Given the description of an element on the screen output the (x, y) to click on. 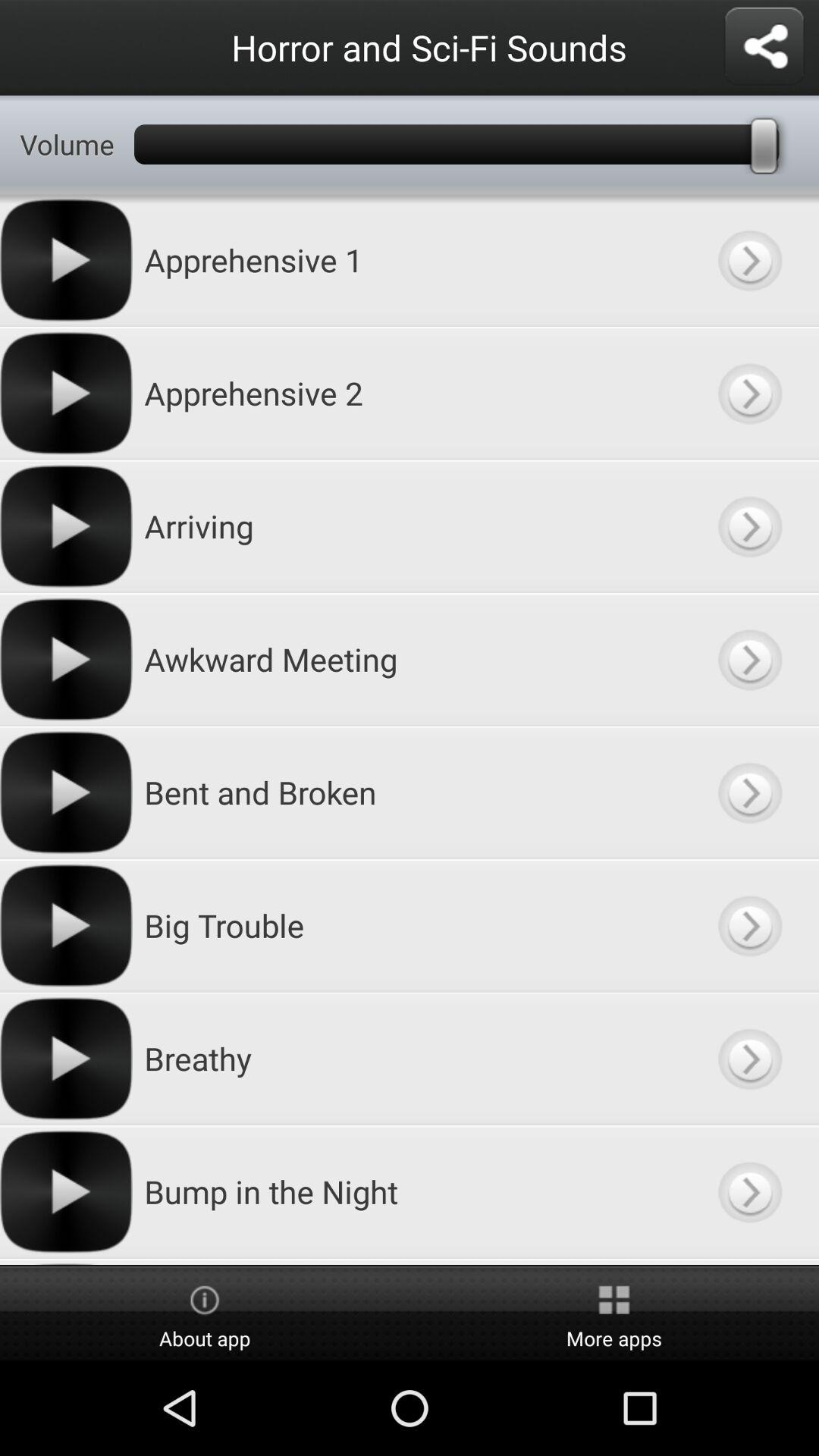
options (764, 47)
